Given the description of an element on the screen output the (x, y) to click on. 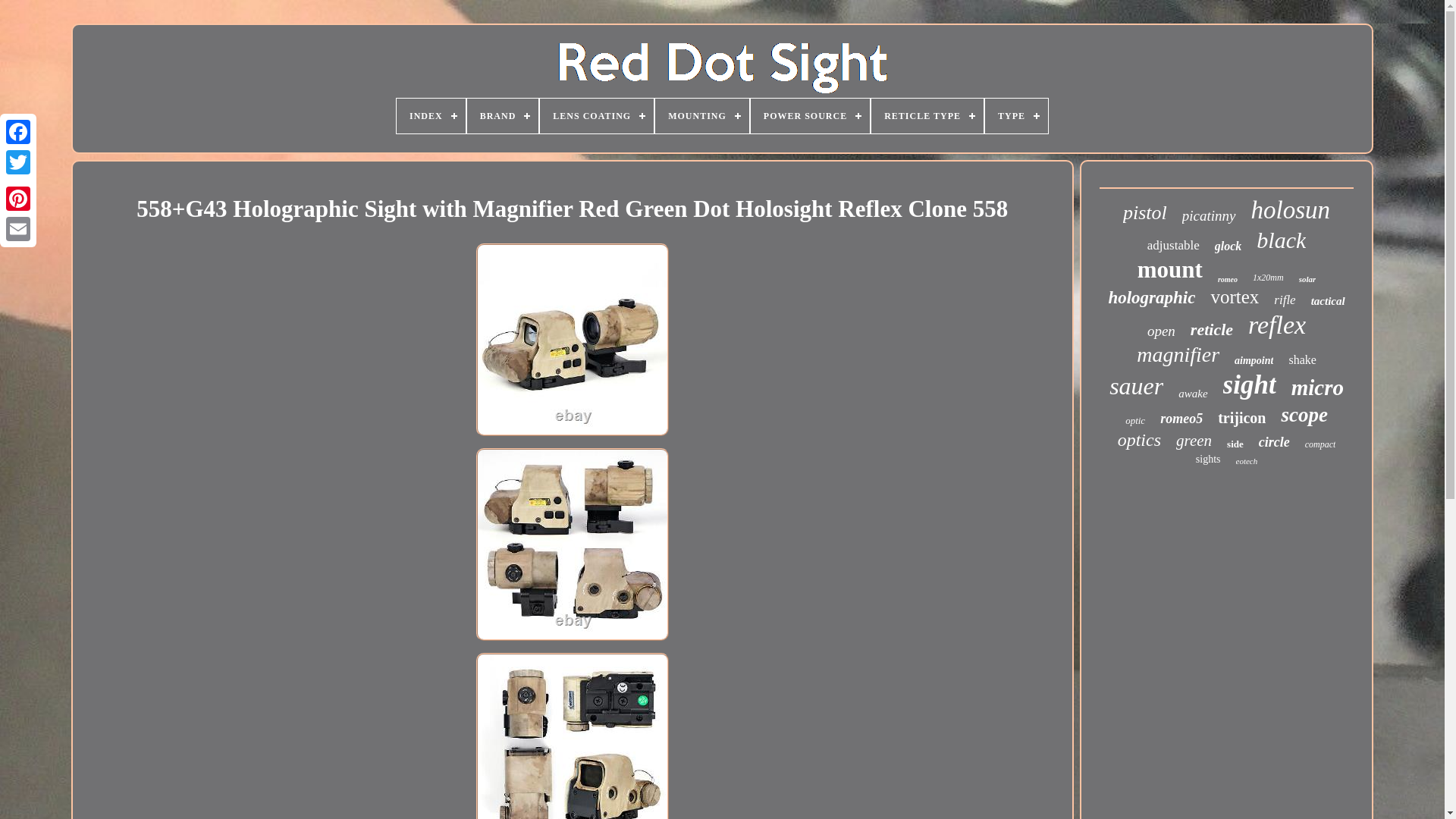
INDEX (430, 115)
BRAND (502, 115)
LENS COATING (596, 115)
